Given the description of an element on the screen output the (x, y) to click on. 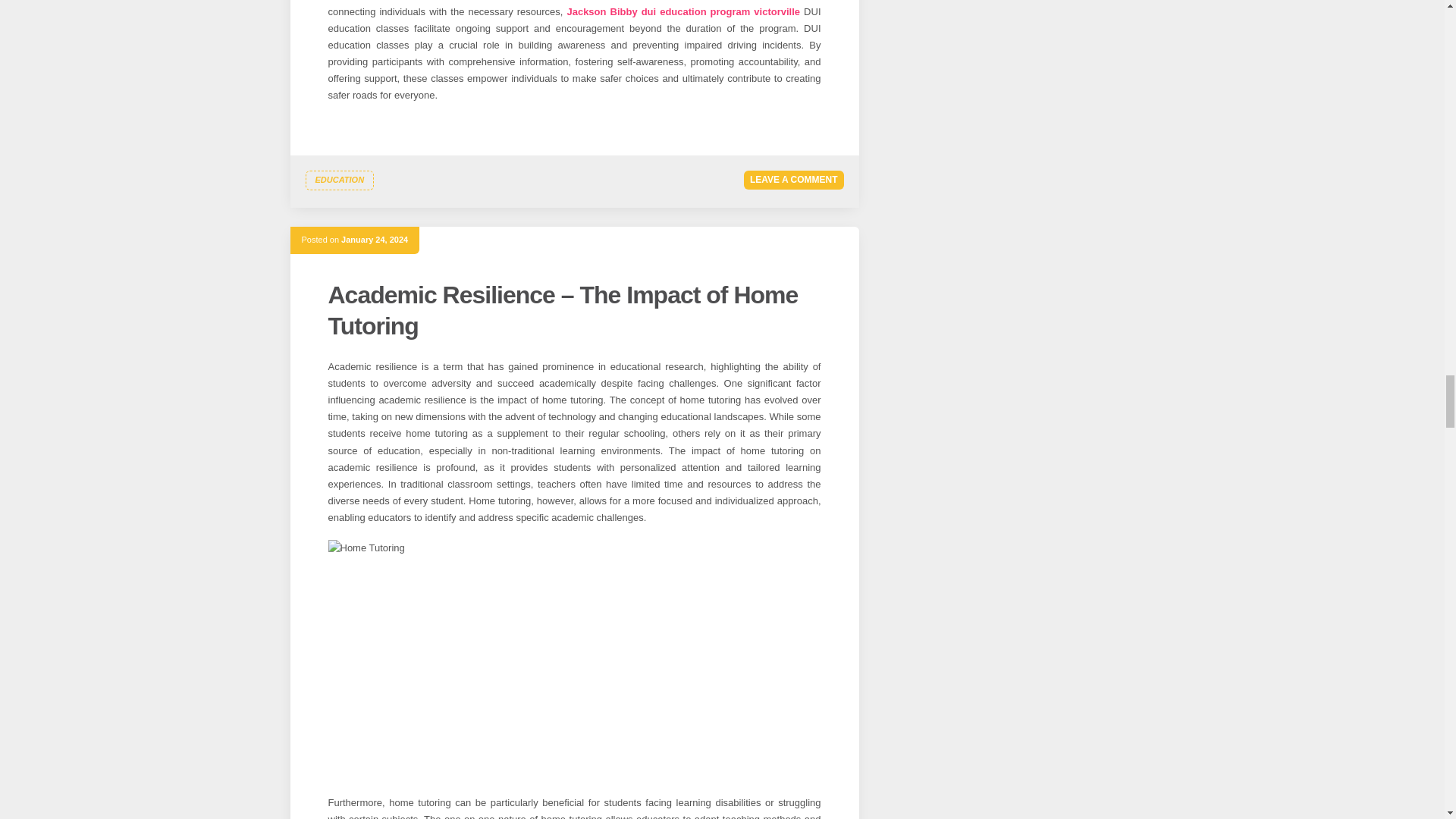
LEAVE A COMMENT (794, 179)
EDUCATION (339, 180)
Jackson Bibby dui education program victorville (682, 11)
January 24, 2024 (373, 239)
